Given the description of an element on the screen output the (x, y) to click on. 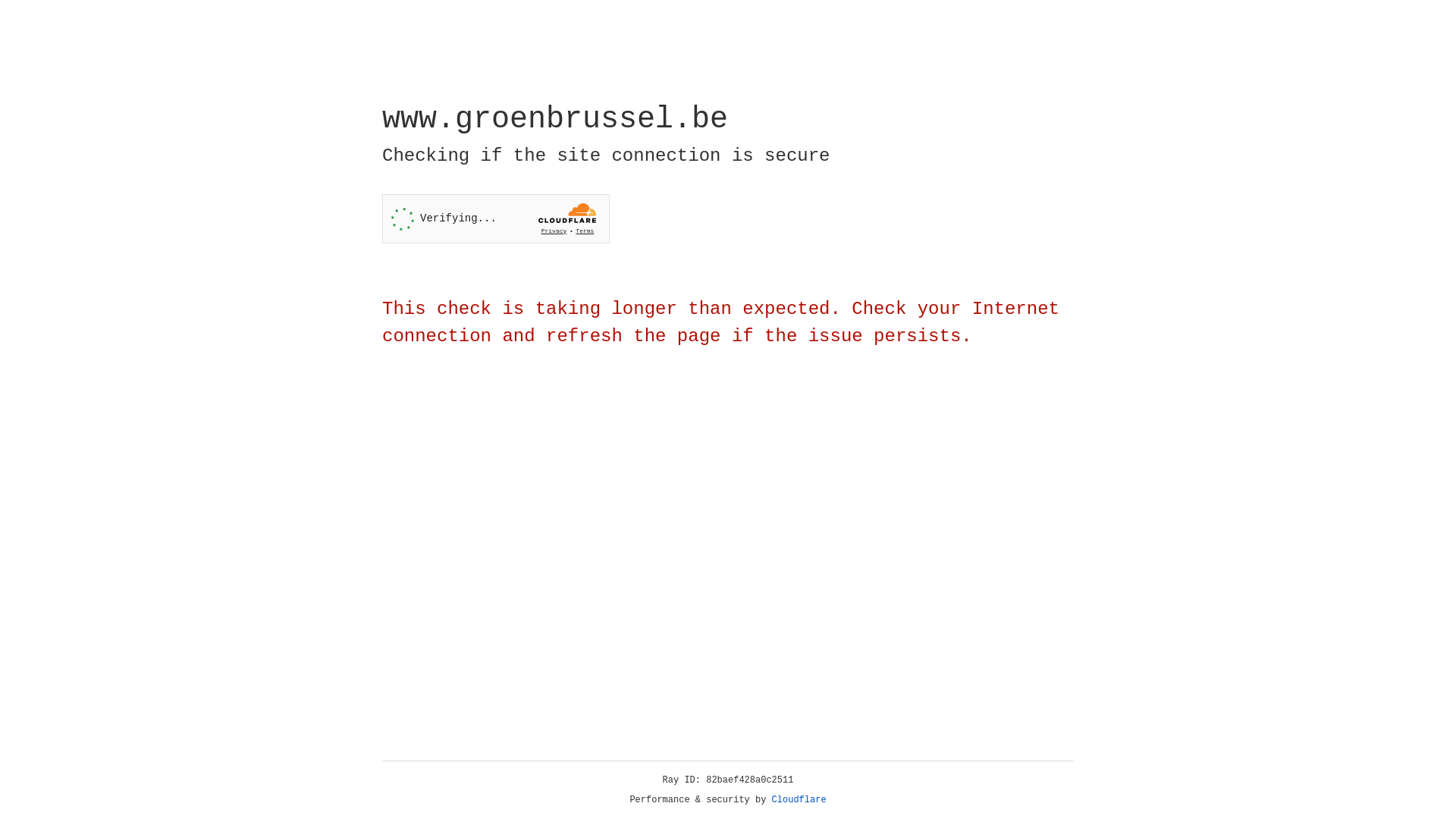
Widget containing a Cloudflare security challenge Element type: hover (495, 218)
Cloudflare Element type: text (798, 799)
